Given the description of an element on the screen output the (x, y) to click on. 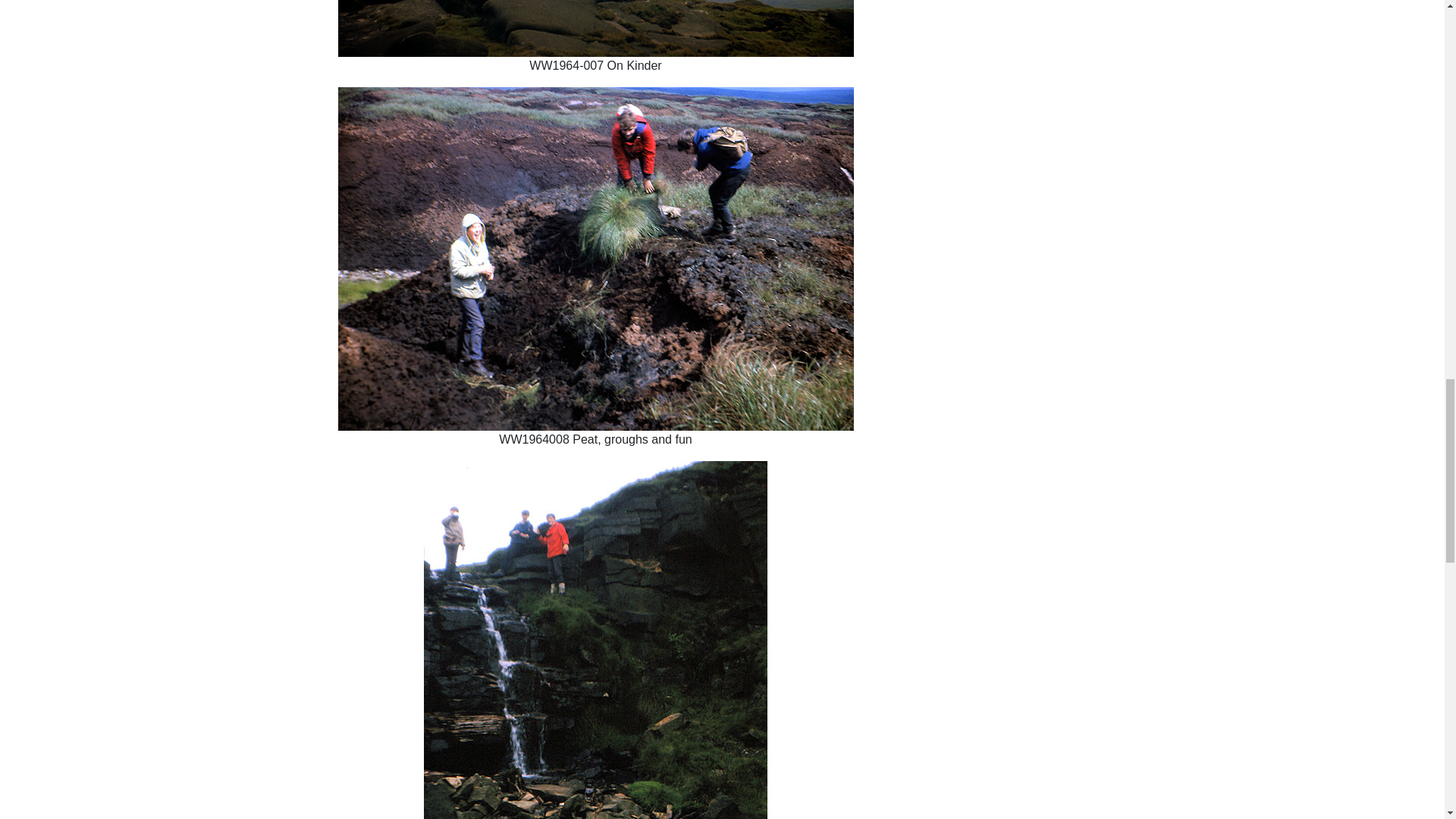
WW1964-009 Caption required (595, 640)
WW1964-007 On Kinder (595, 28)
